Given the description of an element on the screen output the (x, y) to click on. 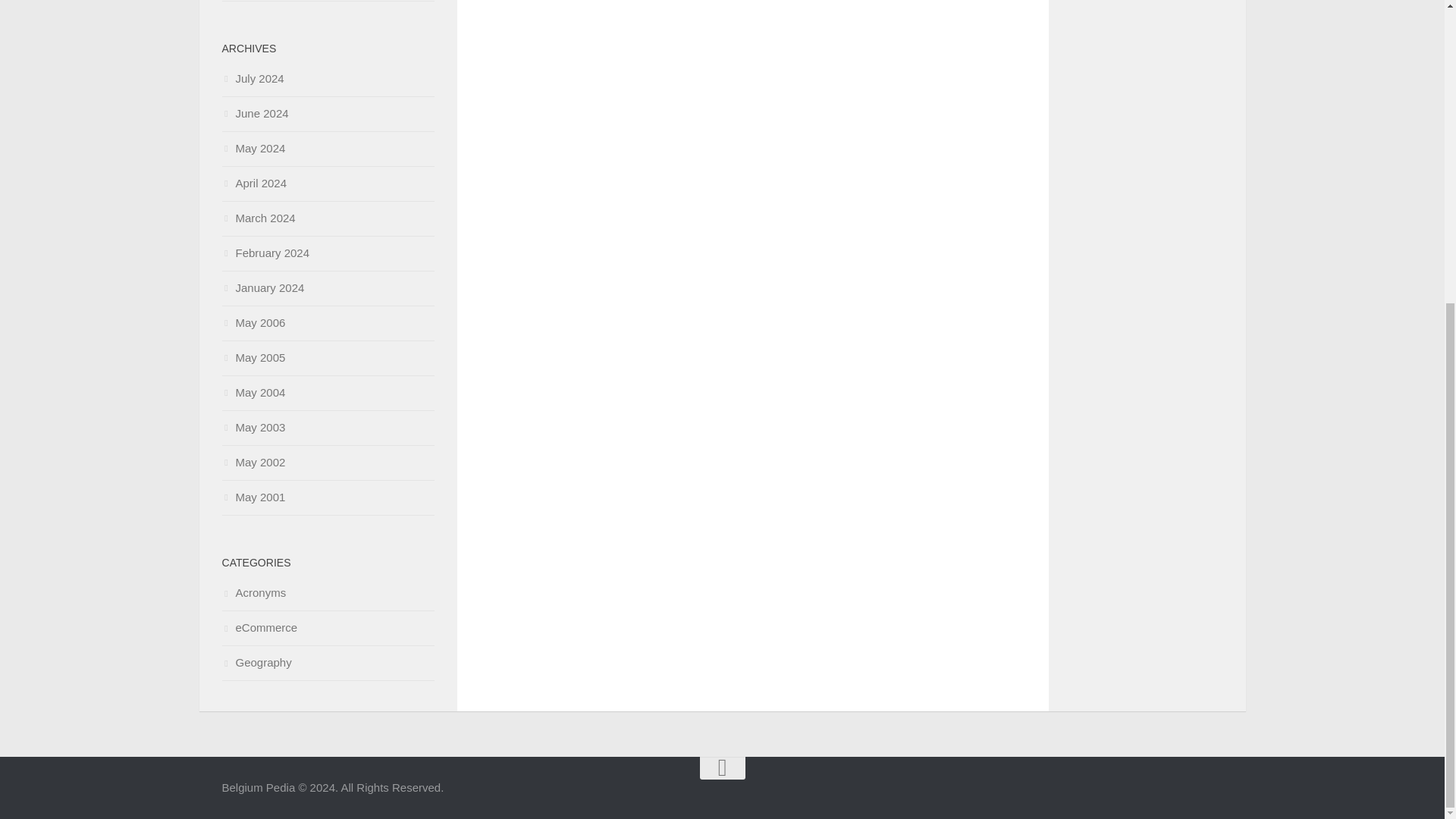
eCommerce (259, 626)
Geography (256, 662)
March 2024 (258, 217)
June 2024 (254, 113)
July 2024 (252, 78)
May 2001 (253, 496)
May 2005 (253, 357)
May 2006 (253, 322)
May 2003 (253, 427)
January 2024 (262, 287)
